Given the description of an element on the screen output the (x, y) to click on. 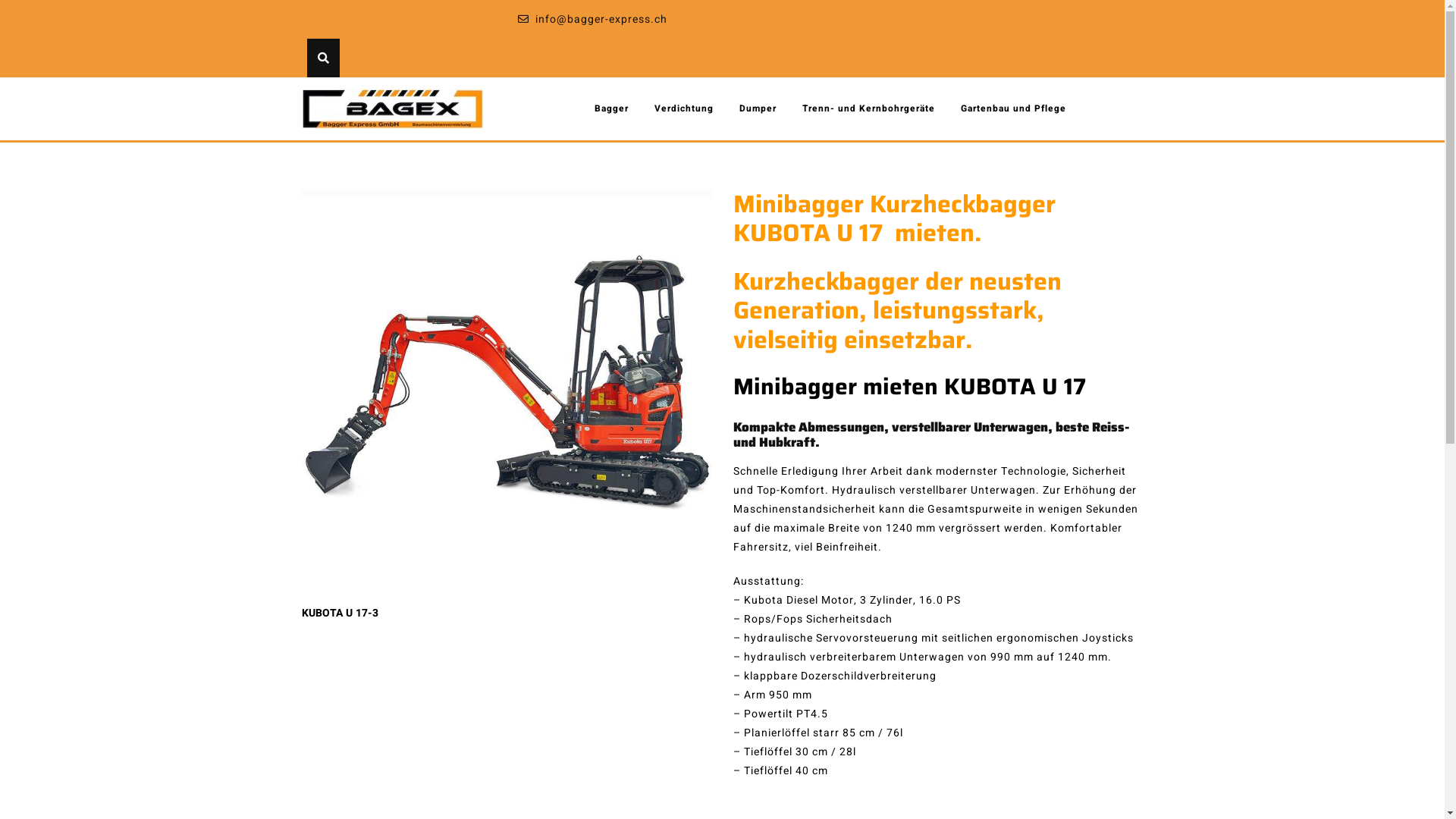
Gartenbau und Pflege Element type: text (1013, 108)
Bagger Element type: text (611, 108)
Dumper Element type: text (757, 108)
Verdichtung Element type: text (683, 108)
